Given the description of an element on the screen output the (x, y) to click on. 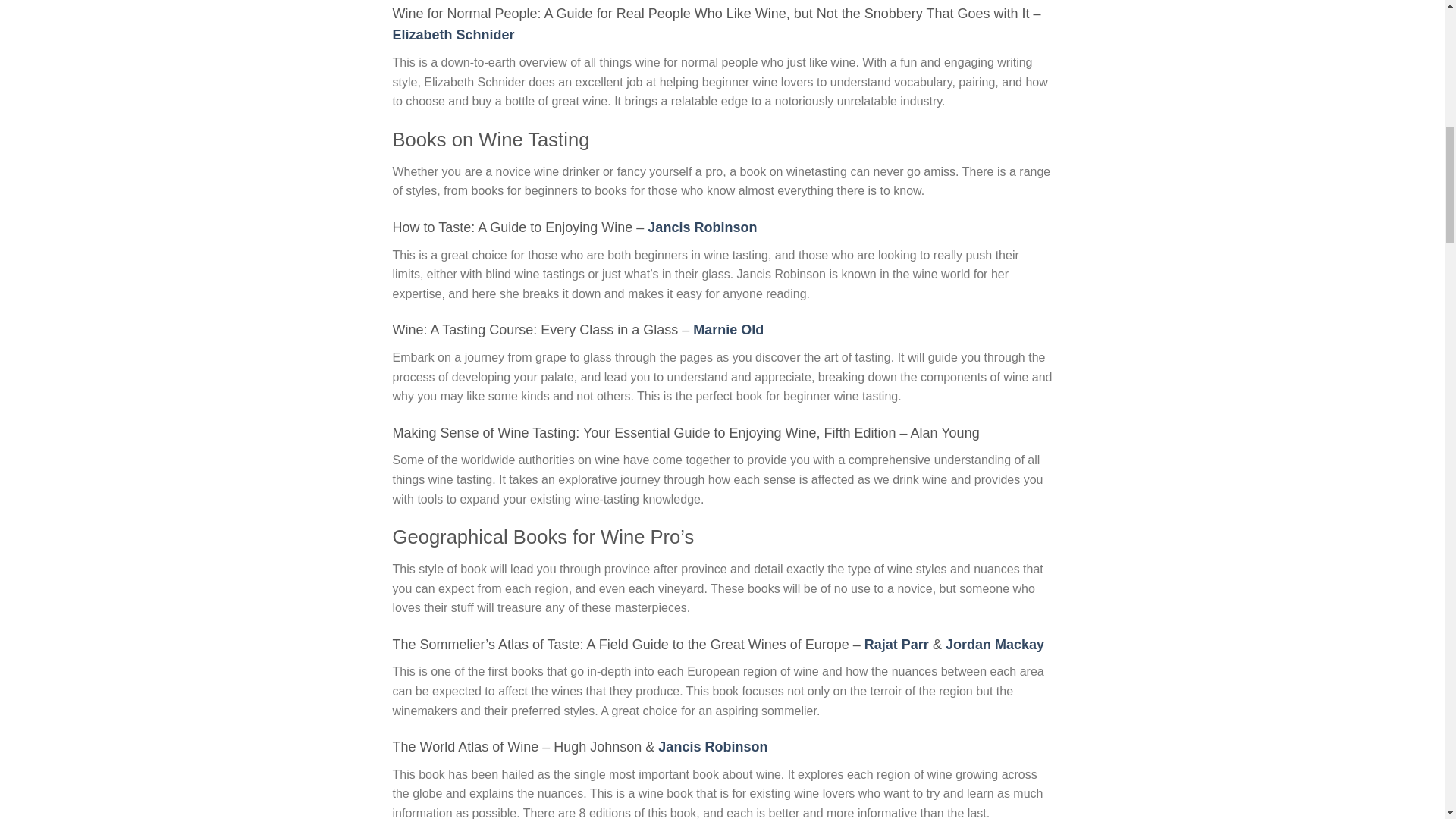
Jancis Robinson (702, 227)
Jordan Mackay (993, 644)
Marnie Old (727, 329)
Jancis Robinson (712, 746)
Rajat Parr (896, 644)
Elizabeth Schnider (454, 34)
